Given the description of an element on the screen output the (x, y) to click on. 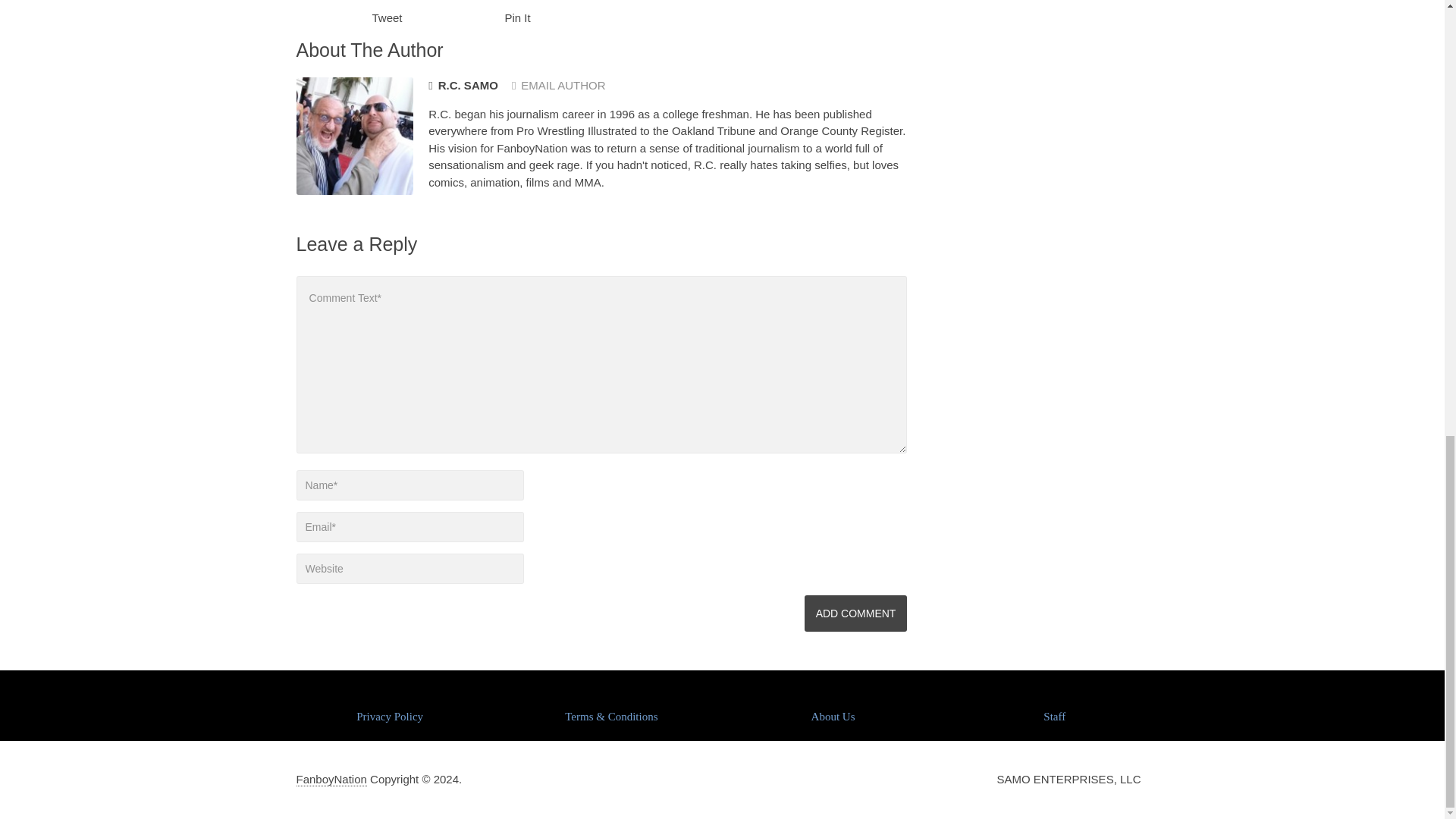
Add Comment (856, 613)
